Given the description of an element on the screen output the (x, y) to click on. 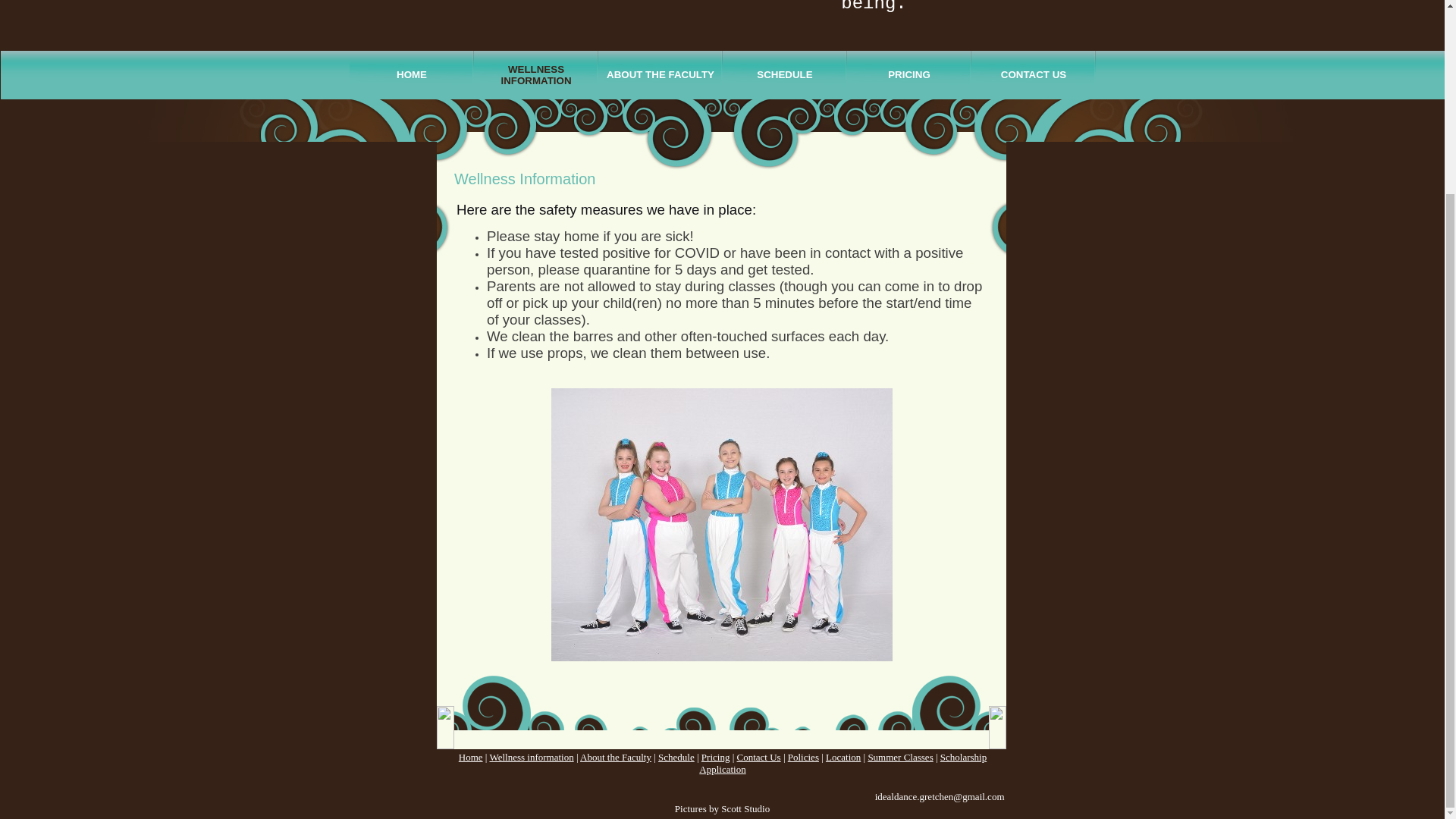
Summer Classes (900, 756)
WELLNESS INFORMATION (536, 74)
Location (842, 756)
SCHEDULE (784, 74)
Pricing (715, 756)
Schedule (676, 756)
CONTACT US (1033, 74)
Home (470, 756)
About the Faculty (614, 756)
Policies (802, 756)
PRICING (909, 74)
Wellness information (531, 756)
ABOUT THE FACULTY (660, 74)
Scholarship Application (842, 762)
Contact Us (758, 756)
